Given the description of an element on the screen output the (x, y) to click on. 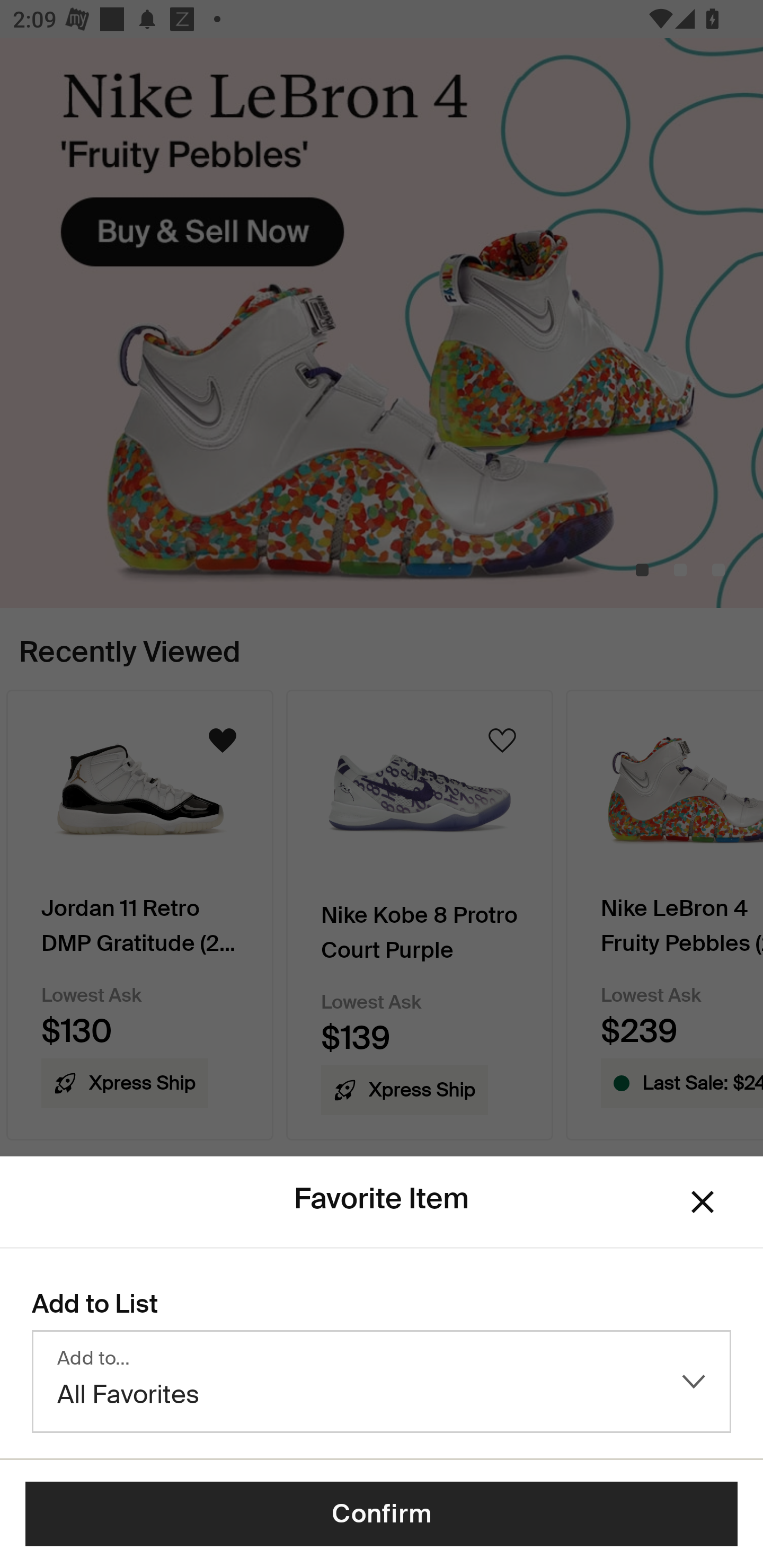
Dismiss (702, 1201)
Add to… All Favorites (381, 1381)
Confirm (381, 1513)
